Given the description of an element on the screen output the (x, y) to click on. 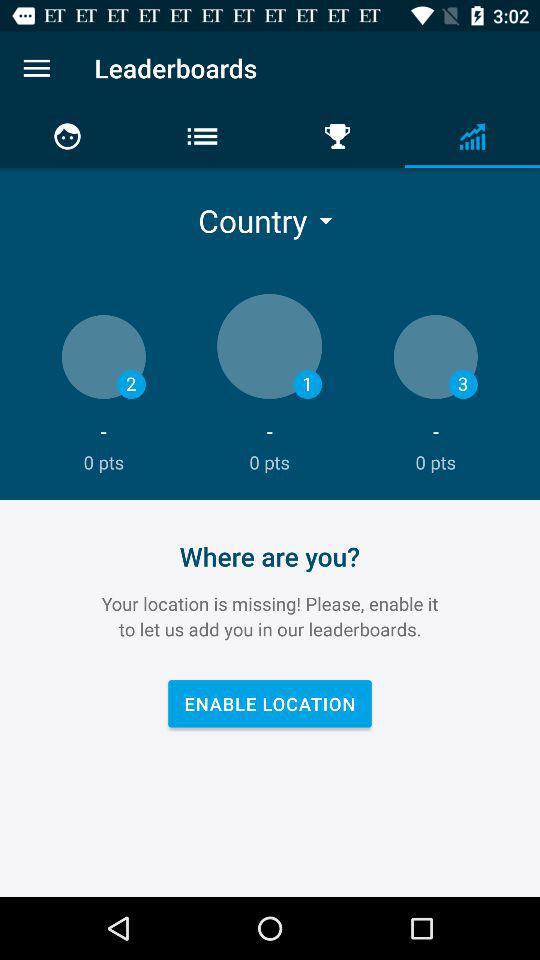
click menu (36, 68)
